Given the description of an element on the screen output the (x, y) to click on. 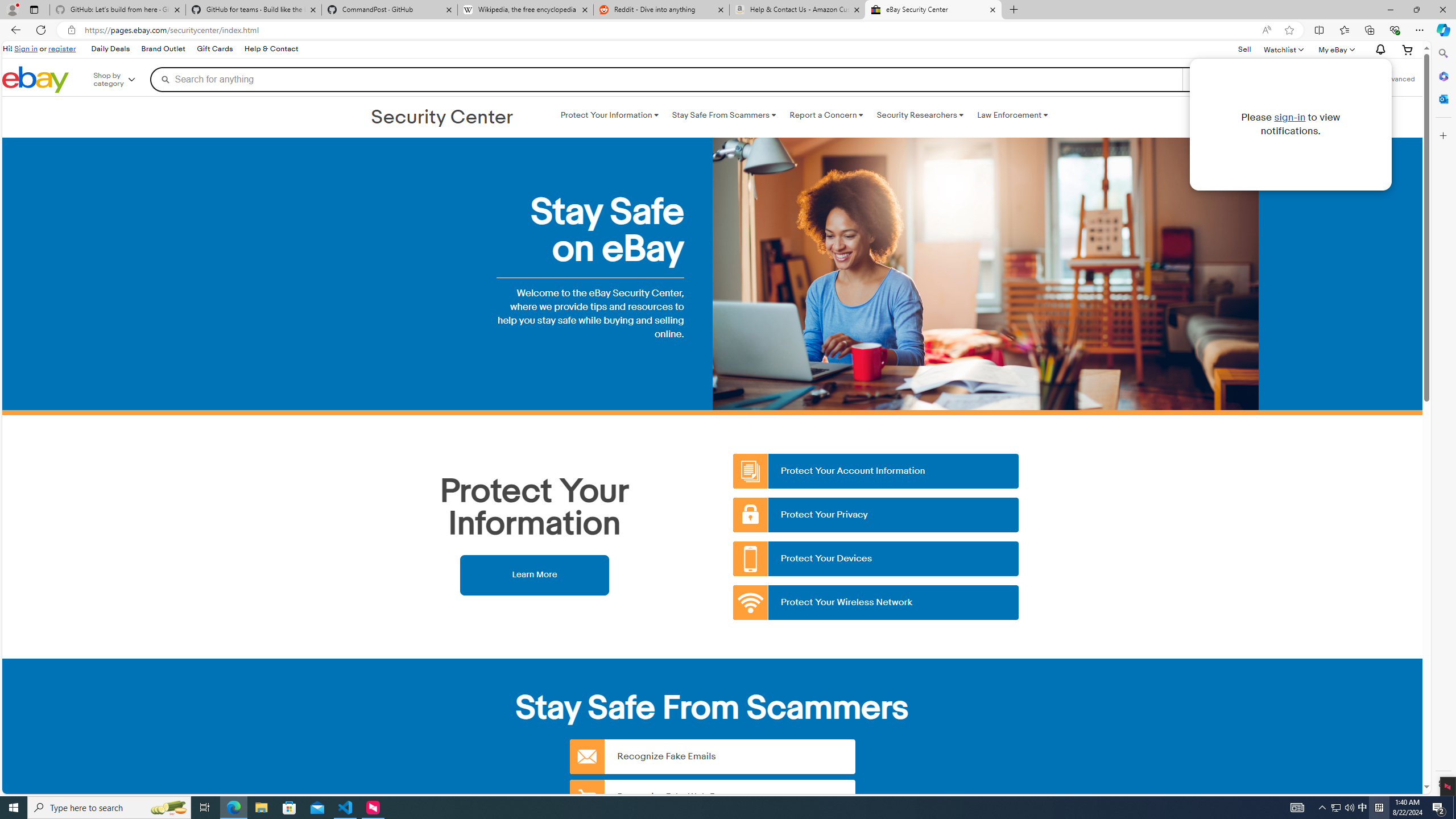
Your shopping cart (1407, 49)
Expand Cart (1407, 49)
